Given the description of an element on the screen output the (x, y) to click on. 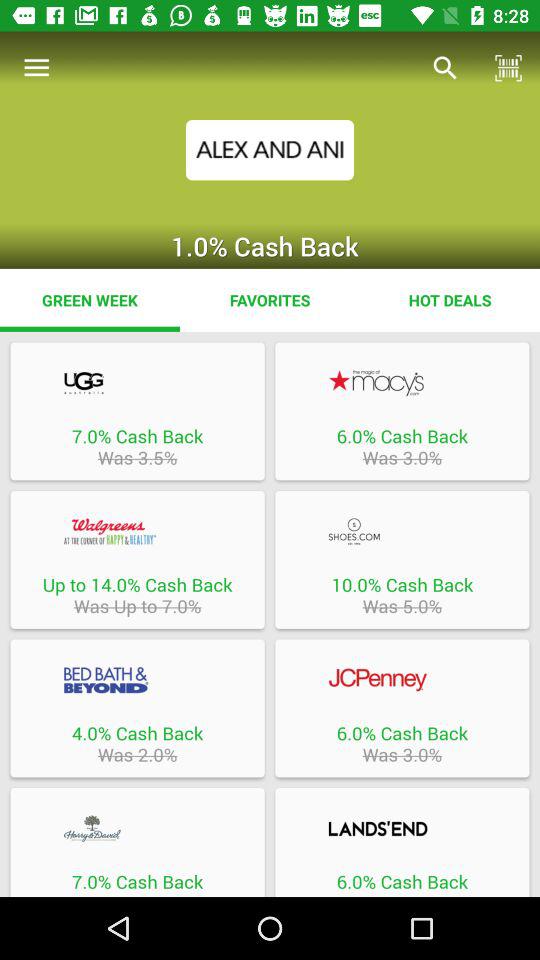
scroll until the hot deals icon (450, 299)
